Given the description of an element on the screen output the (x, y) to click on. 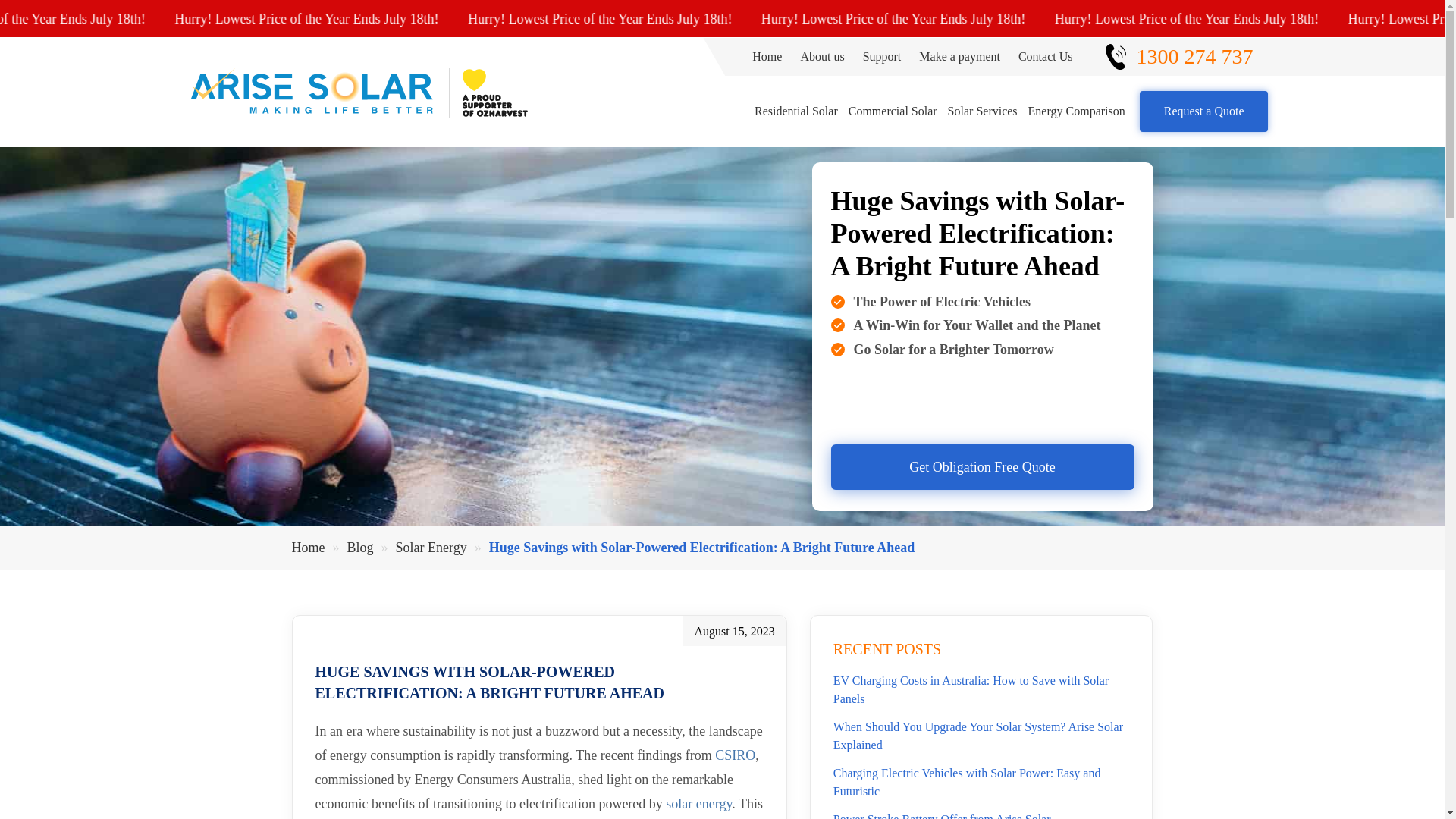
About us (821, 56)
Go to Blog. (362, 547)
Go to Arise Solar. (310, 547)
Support (882, 56)
Home (766, 56)
Go to the Solar Energy category archives. (433, 547)
